Given the description of an element on the screen output the (x, y) to click on. 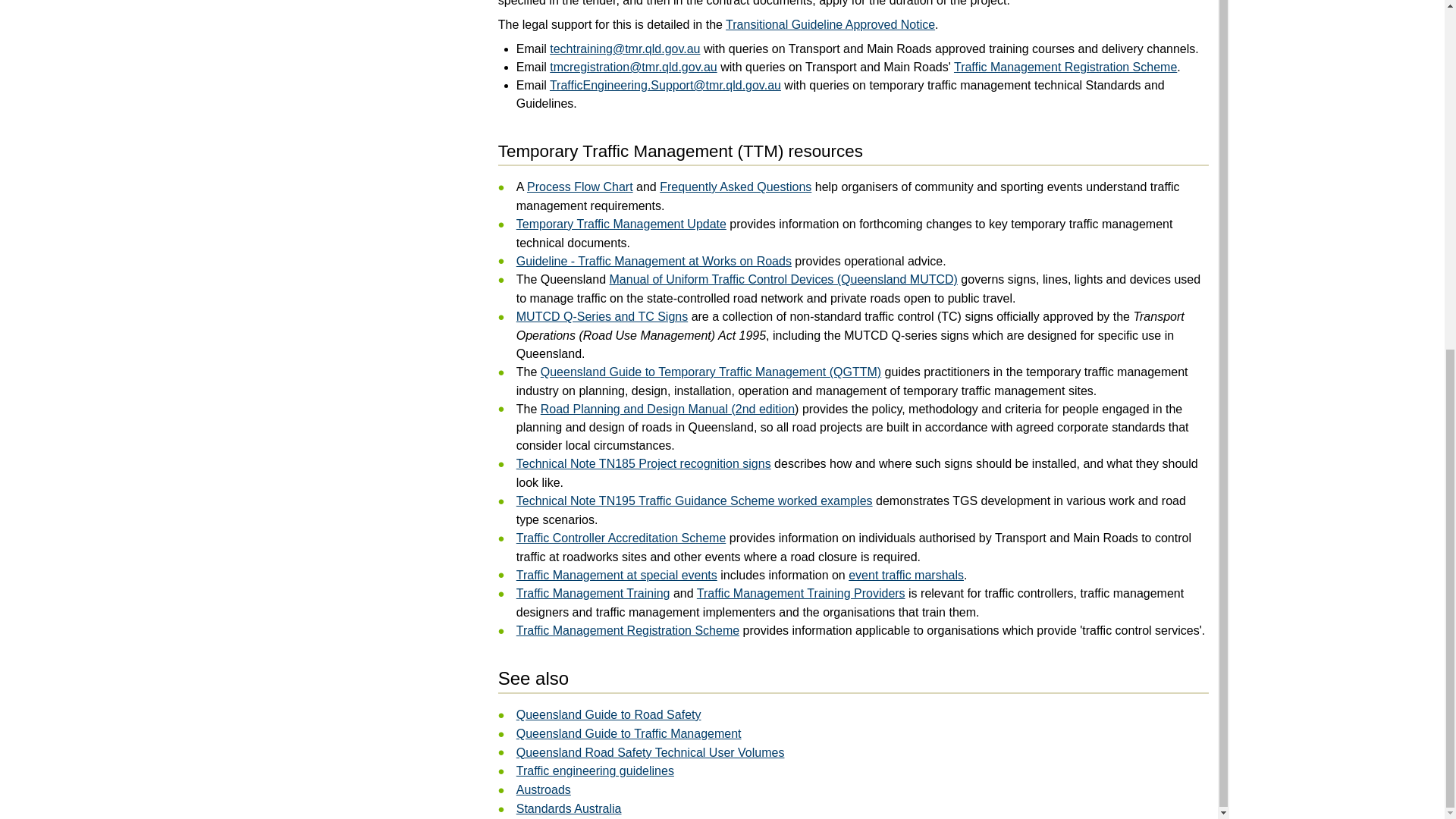
Temporary Traffic Management Update (621, 223)
MUTCD Q-Series and TC Signs (601, 316)
Frequently Asked Questions (734, 186)
Transitional Guideline Approved Notice (829, 24)
Guideline - Traffic Management at Works on Roads (654, 260)
Traffic Management Registration Scheme (1064, 66)
Process Flow Chart (580, 186)
